Given the description of an element on the screen output the (x, y) to click on. 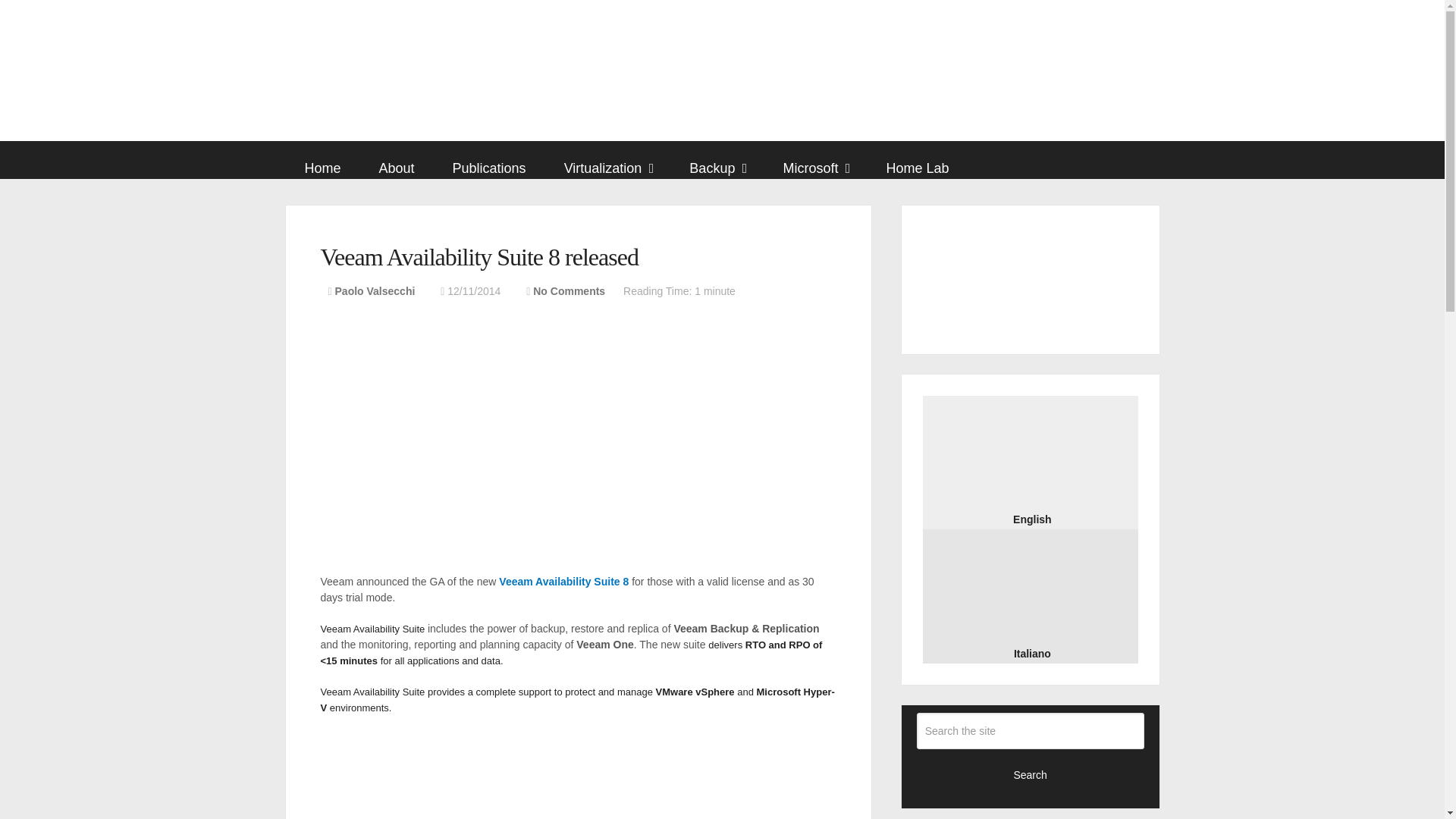
Posts by Paolo Valsecchi (374, 291)
Home (322, 167)
veeam8released01 (578, 481)
Microsoft (814, 167)
About (396, 167)
Backup (715, 167)
No Comments (568, 291)
veeam8released02 (578, 775)
Virtualization (607, 167)
Home Lab (917, 167)
Publications (488, 167)
Paolo Valsecchi (374, 291)
Veeam Availability Suite 8 (563, 581)
